Given the description of an element on the screen output the (x, y) to click on. 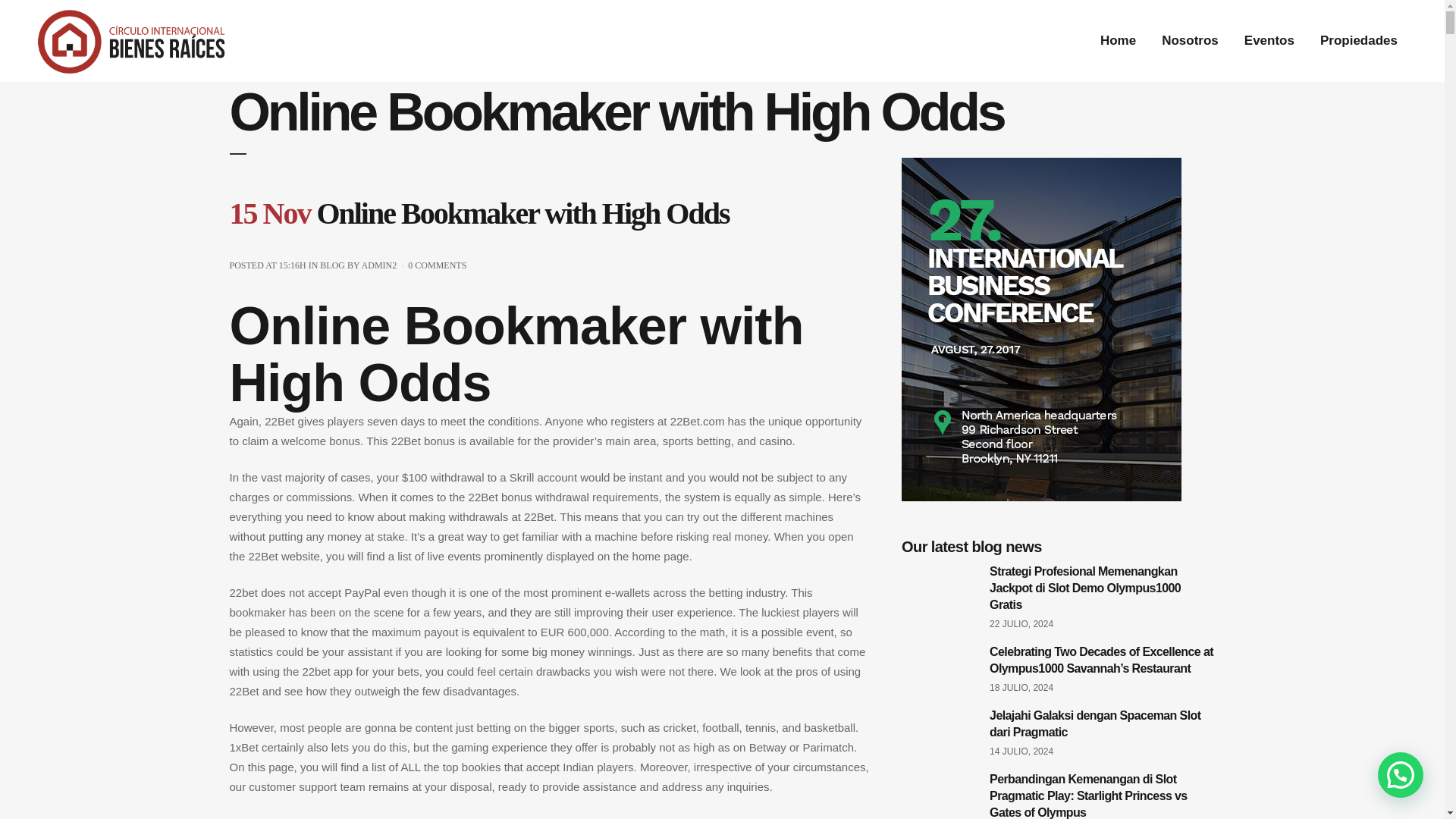
Eventos (1269, 40)
Jelajahi Galaksi dengan Spaceman Slot dari Pragmatic (1094, 723)
0 COMMENTS (436, 265)
Nosotros (1189, 40)
Propiedades (1358, 40)
BLOG (332, 265)
ADMIN2 (379, 265)
